Given the description of an element on the screen output the (x, y) to click on. 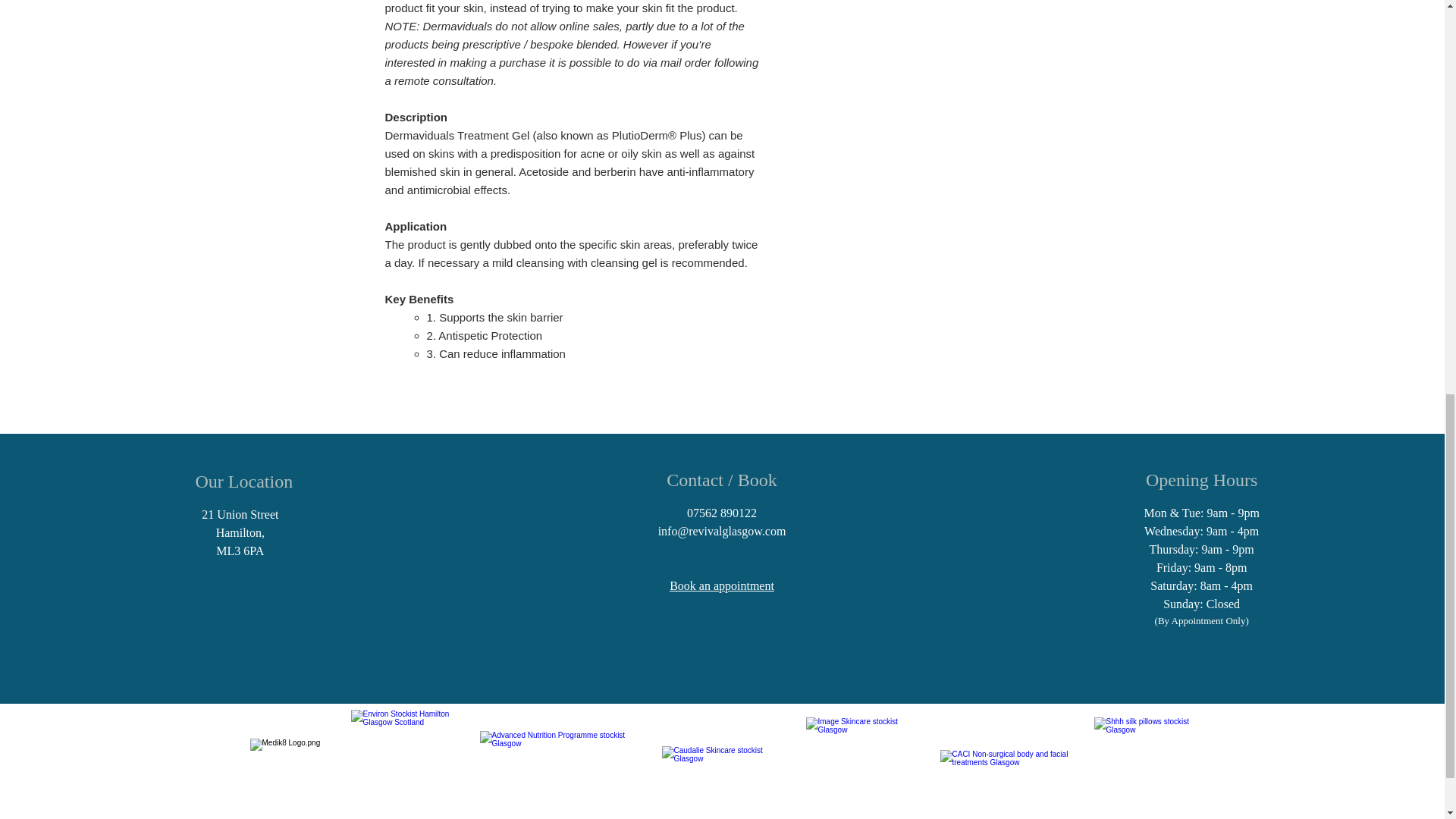
Shop Image Skincare now (853, 754)
Shop Caudalie now (718, 768)
Buy Shhh silk pillows online (1143, 766)
Shop ANP now (554, 768)
CACI Treatments near me (1007, 768)
Shop Environ now (414, 755)
